Given the description of an element on the screen output the (x, y) to click on. 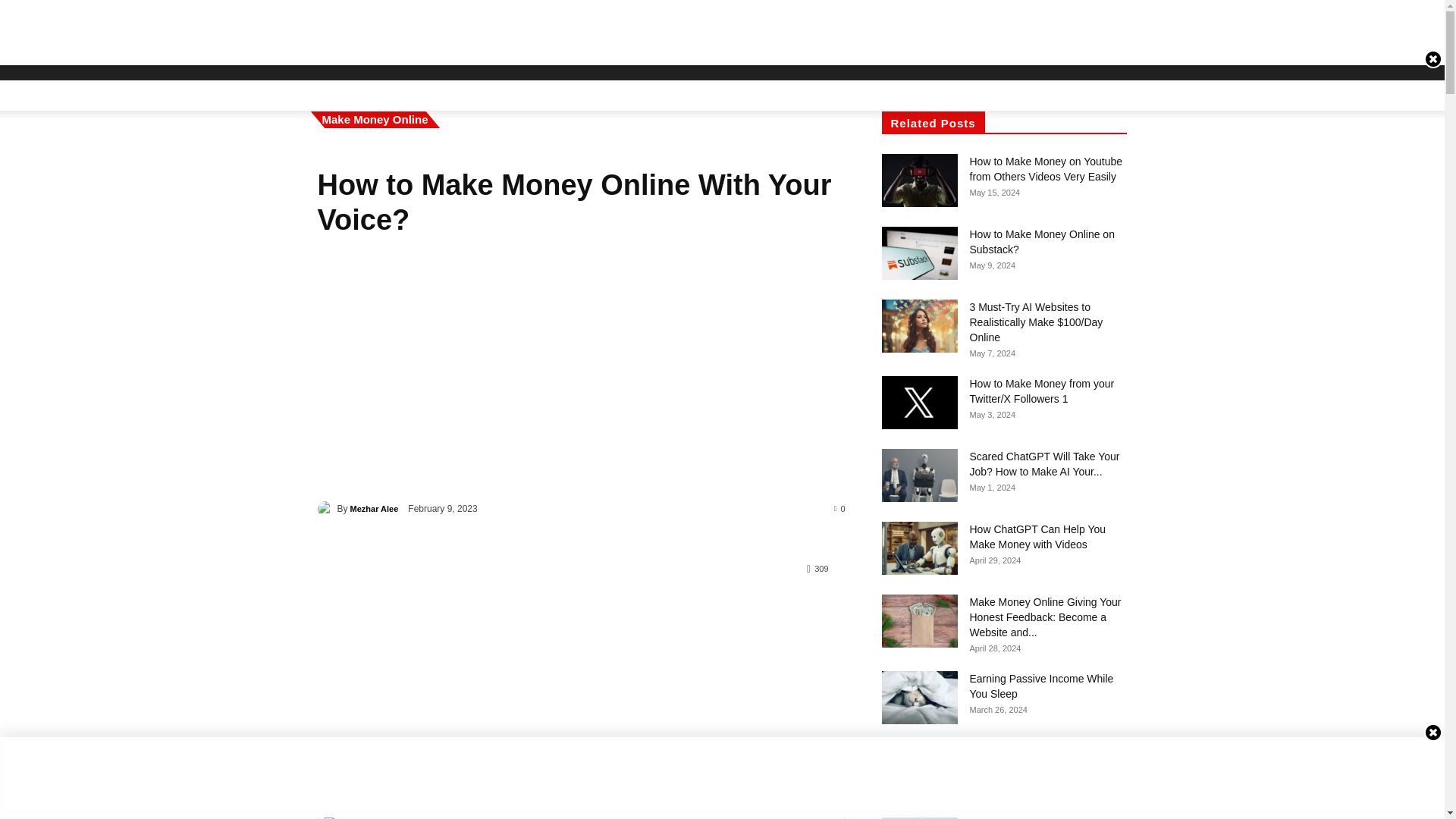
0 (839, 507)
Make Money Online (374, 119)
Mezhar Alee (374, 508)
U.S. (583, 25)
HEALTH (720, 25)
Advertisement (561, 651)
Mezhar Alee (326, 508)
Advertisement (580, 368)
AUTOMOTIVE (862, 25)
TECH (782, 25)
BUSINESS (647, 25)
SPORTS (946, 25)
American Sports News (411, 24)
HOME (535, 25)
